Given the description of an element on the screen output the (x, y) to click on. 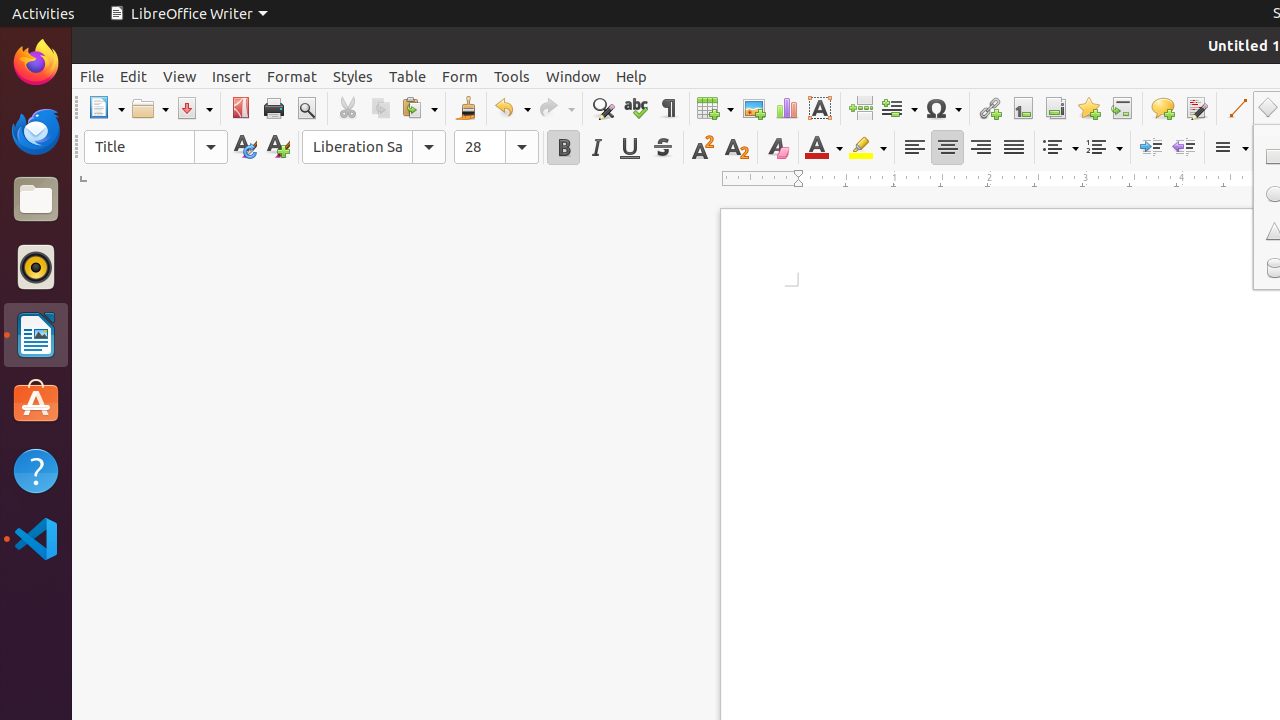
PDF Element type: push-button (240, 108)
Paragraph Style Element type: combo-box (156, 147)
Symbol Element type: push-button (943, 108)
Image Element type: push-button (753, 108)
Form Element type: menu (460, 76)
